Given the description of an element on the screen output the (x, y) to click on. 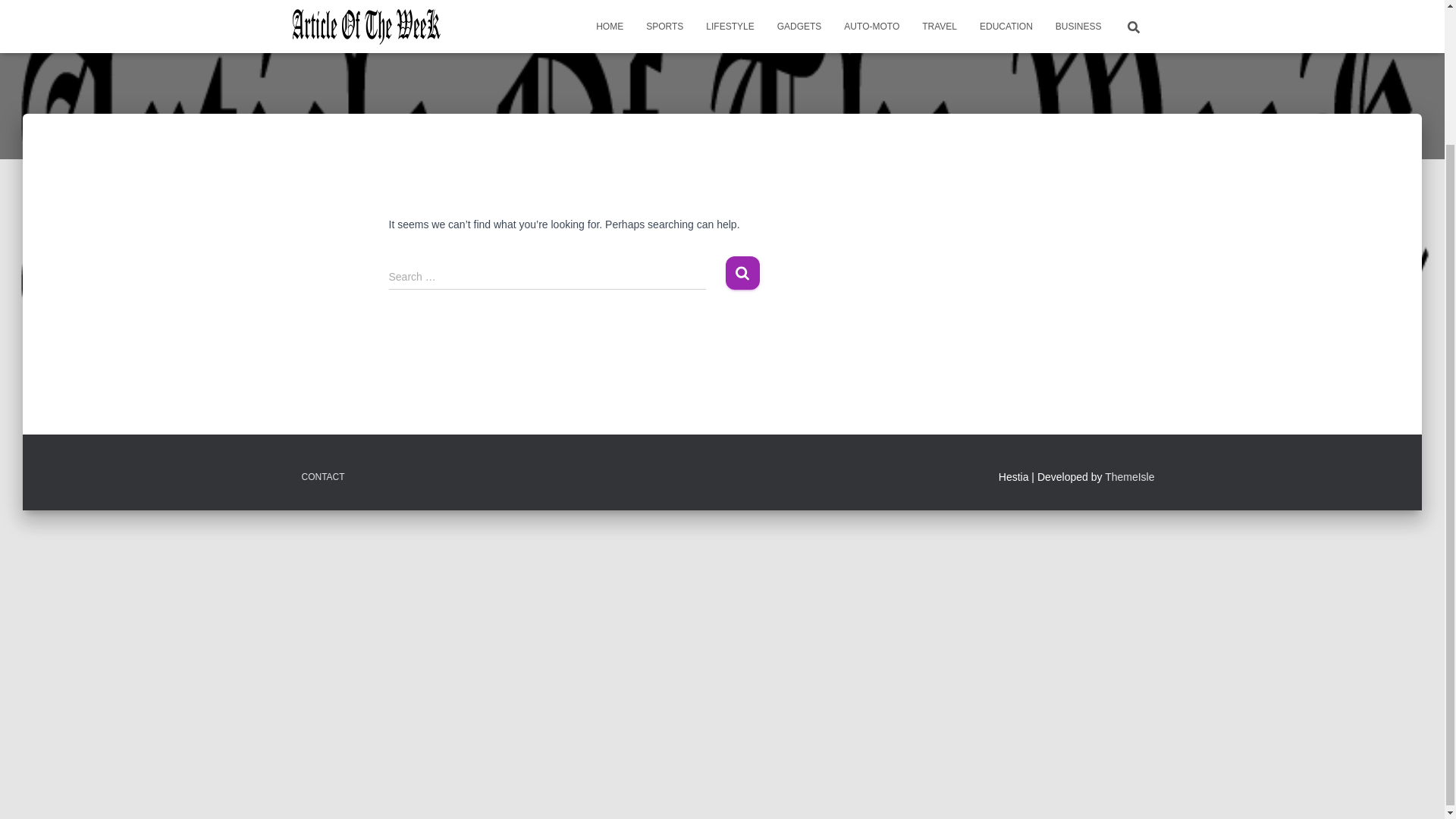
Advertisement (721, 551)
ThemeIsle (1129, 476)
Search (741, 272)
Search (741, 272)
Search (741, 272)
CONTACT (322, 477)
